Given the description of an element on the screen output the (x, y) to click on. 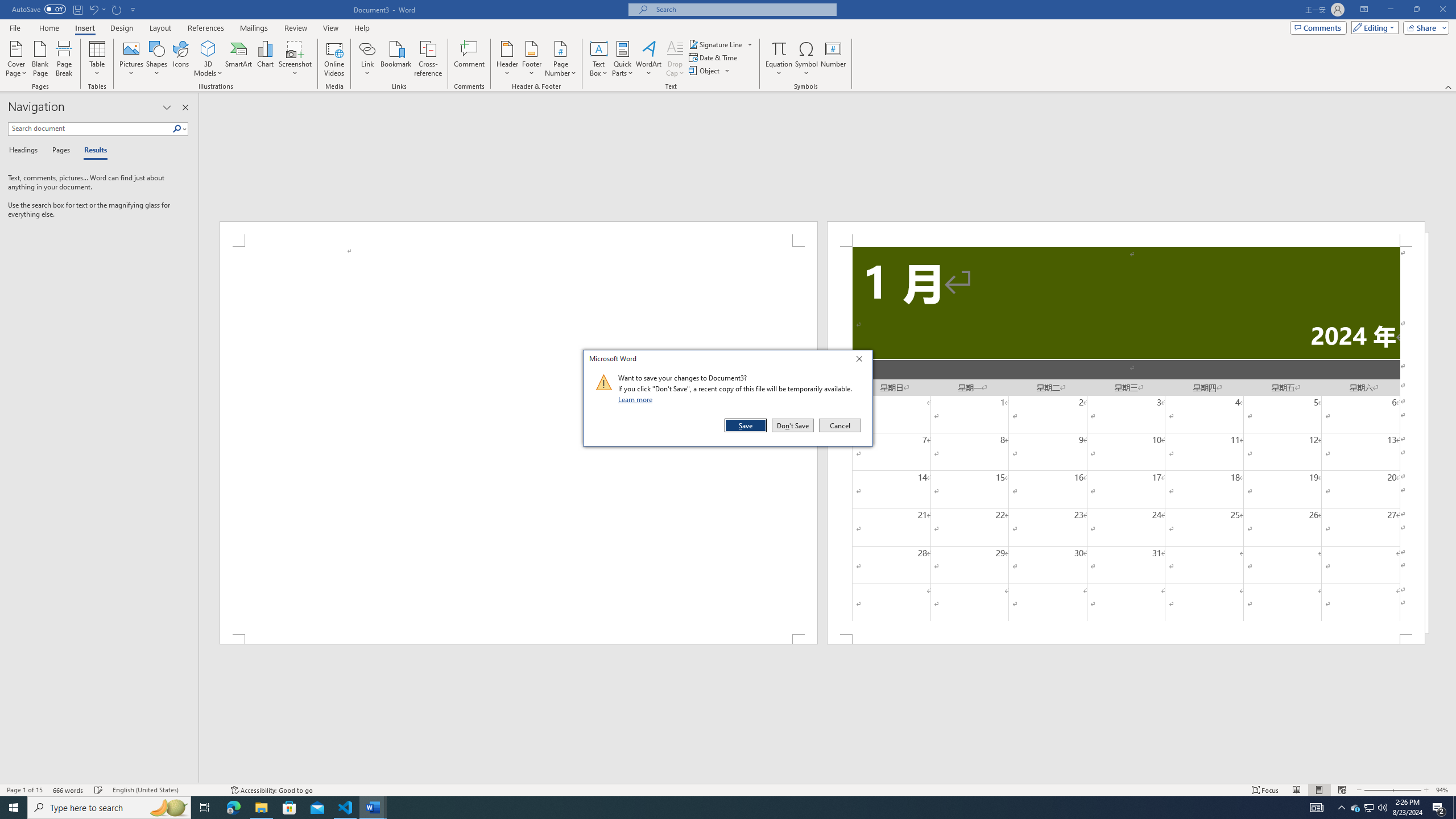
Footer (531, 58)
Don't Save (792, 425)
